Given the description of an element on the screen output the (x, y) to click on. 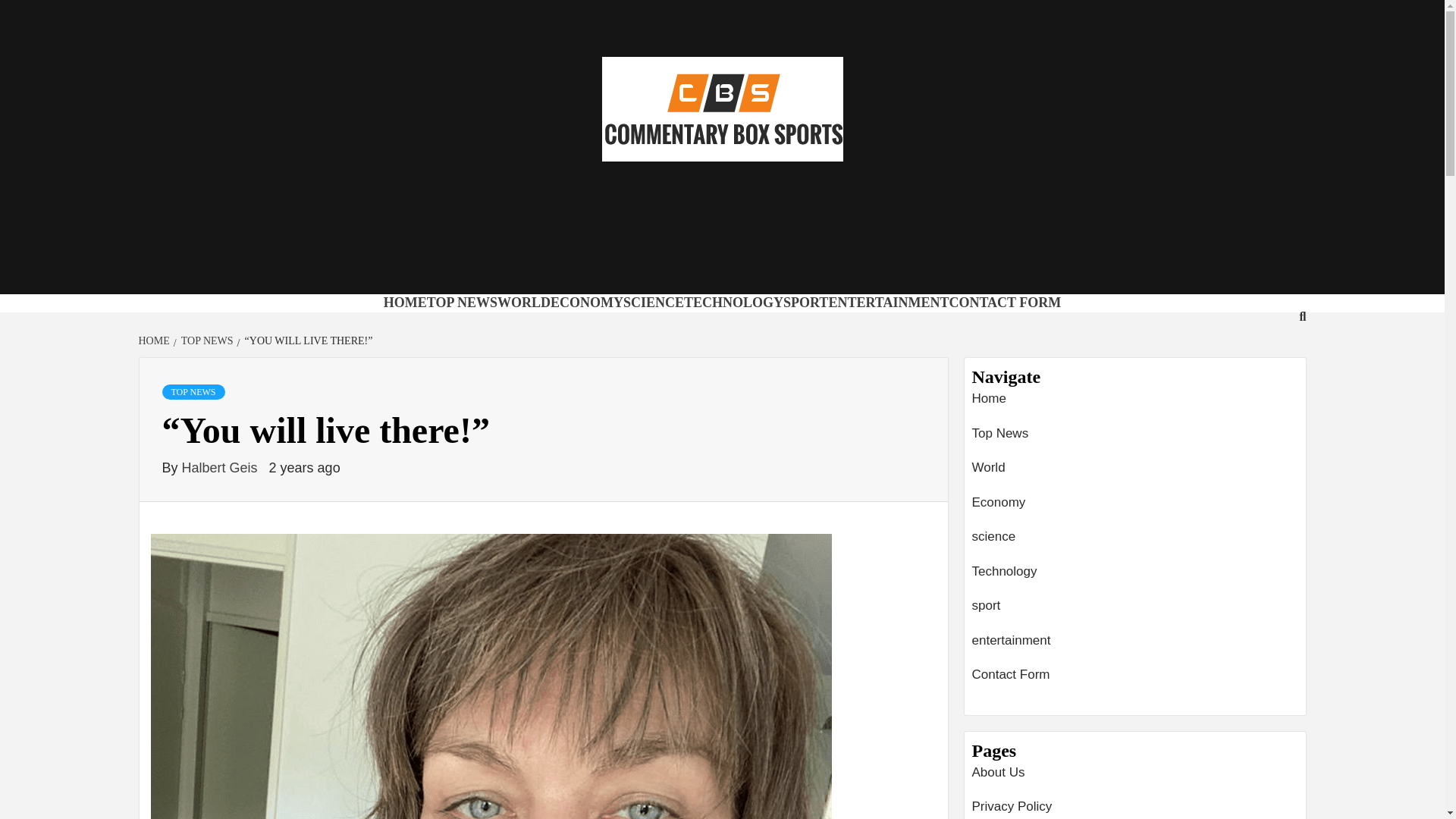
SCIENCE (653, 302)
SPORT (805, 302)
TOP NEWS (193, 391)
CONTACT FORM (1005, 302)
HOME (405, 302)
WORLD (523, 302)
TOP NEWS (205, 340)
Halbert Geis (222, 467)
TECHNOLOGY (733, 302)
ECONOMY (586, 302)
HOME (155, 340)
TOP NEWS (461, 302)
ENTERTAINMENT (888, 302)
